Given the description of an element on the screen output the (x, y) to click on. 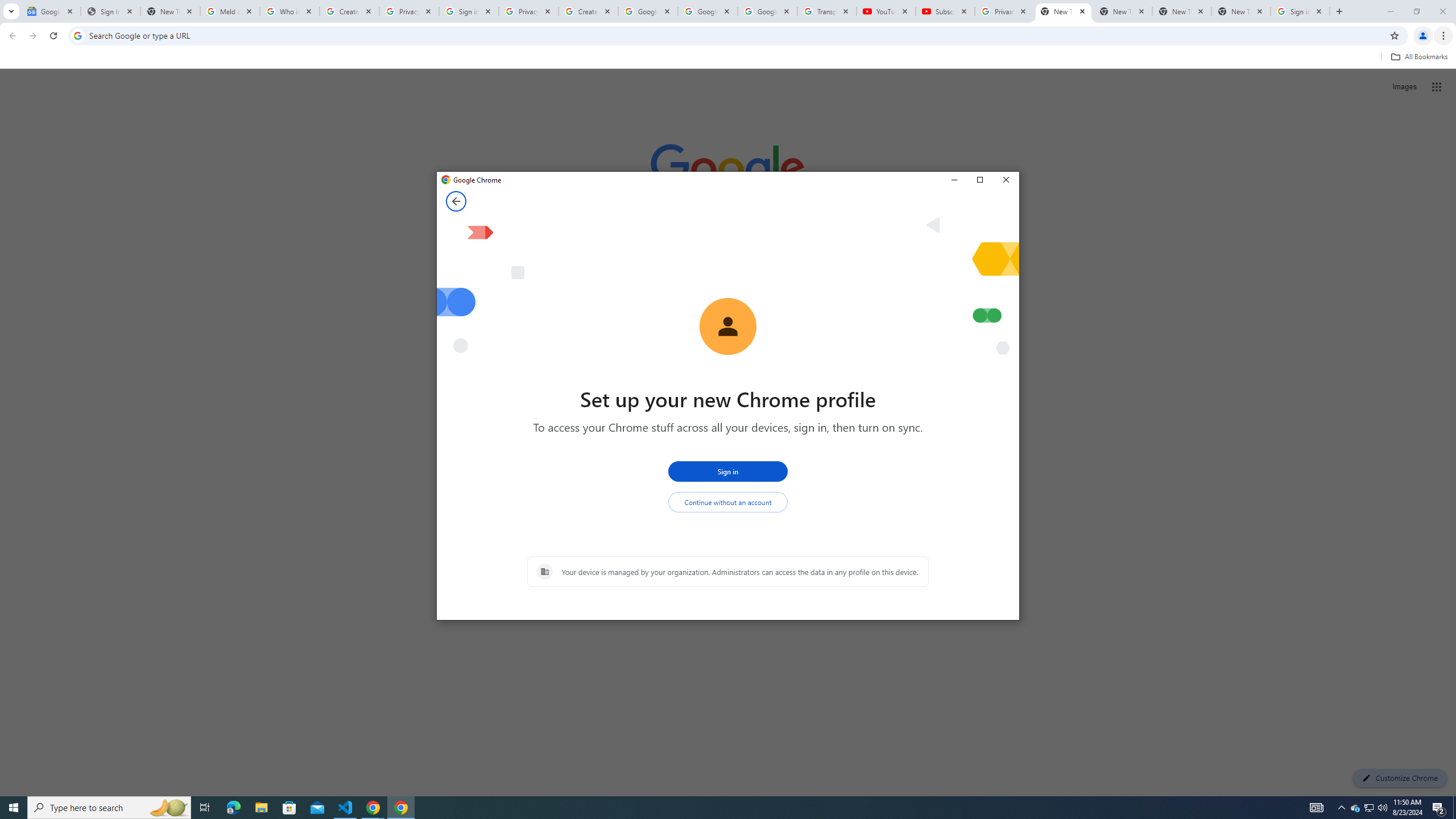
Q2790: 100% (1382, 807)
Create your Google Account (588, 11)
Running applications (717, 807)
Start (13, 807)
File Explorer (261, 807)
Microsoft Store (1368, 807)
New Tab (289, 807)
Back from Set up your new Chrome profile page (1241, 11)
